Given the description of an element on the screen output the (x, y) to click on. 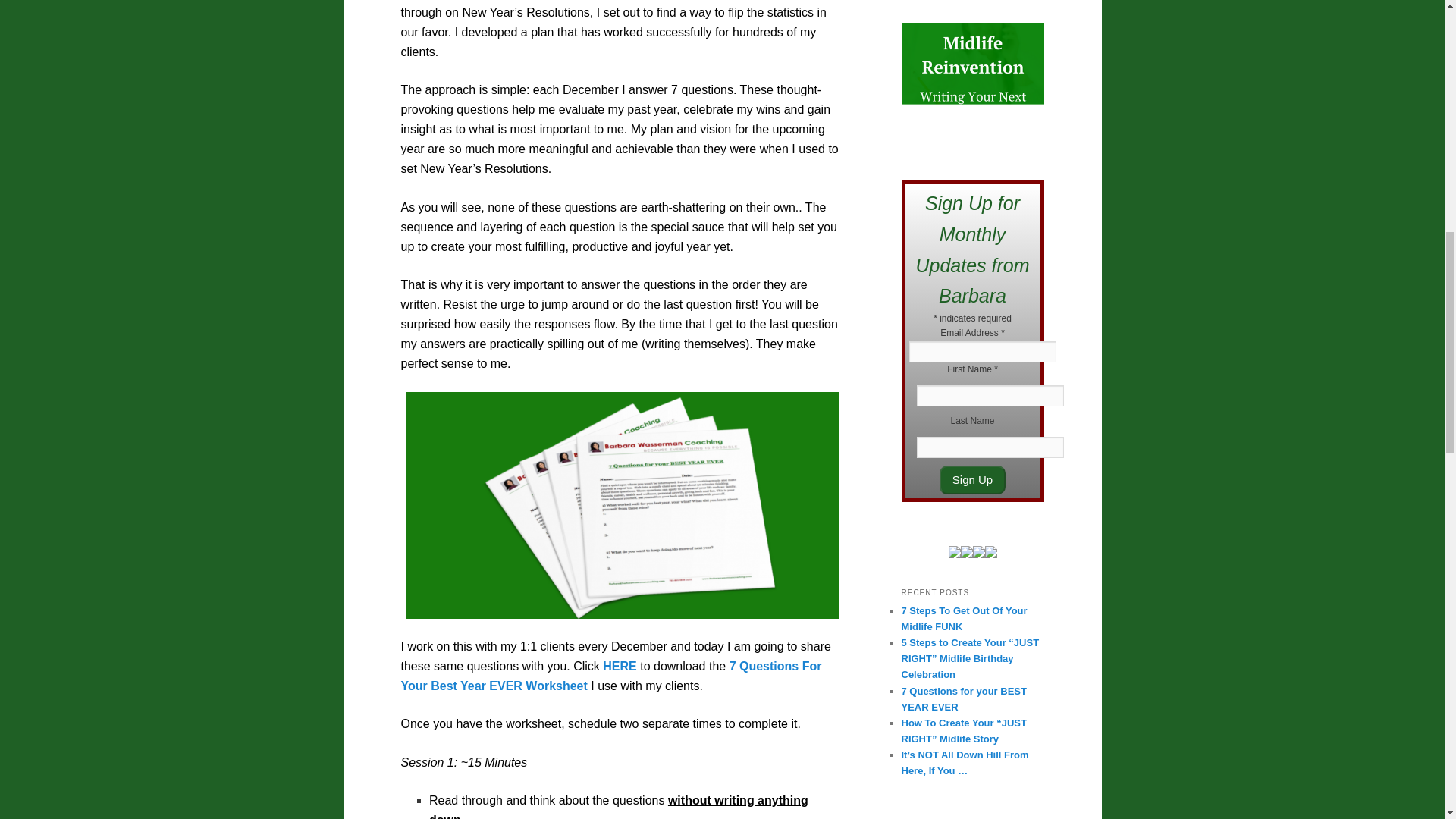
7 Questions For Your Best Year EVER Worksheet (610, 676)
Sign Up (972, 480)
Email Barbara (989, 554)
HERE (619, 666)
LinkedIn (953, 554)
Twitter (965, 554)
Facebook (978, 554)
